Given the description of an element on the screen output the (x, y) to click on. 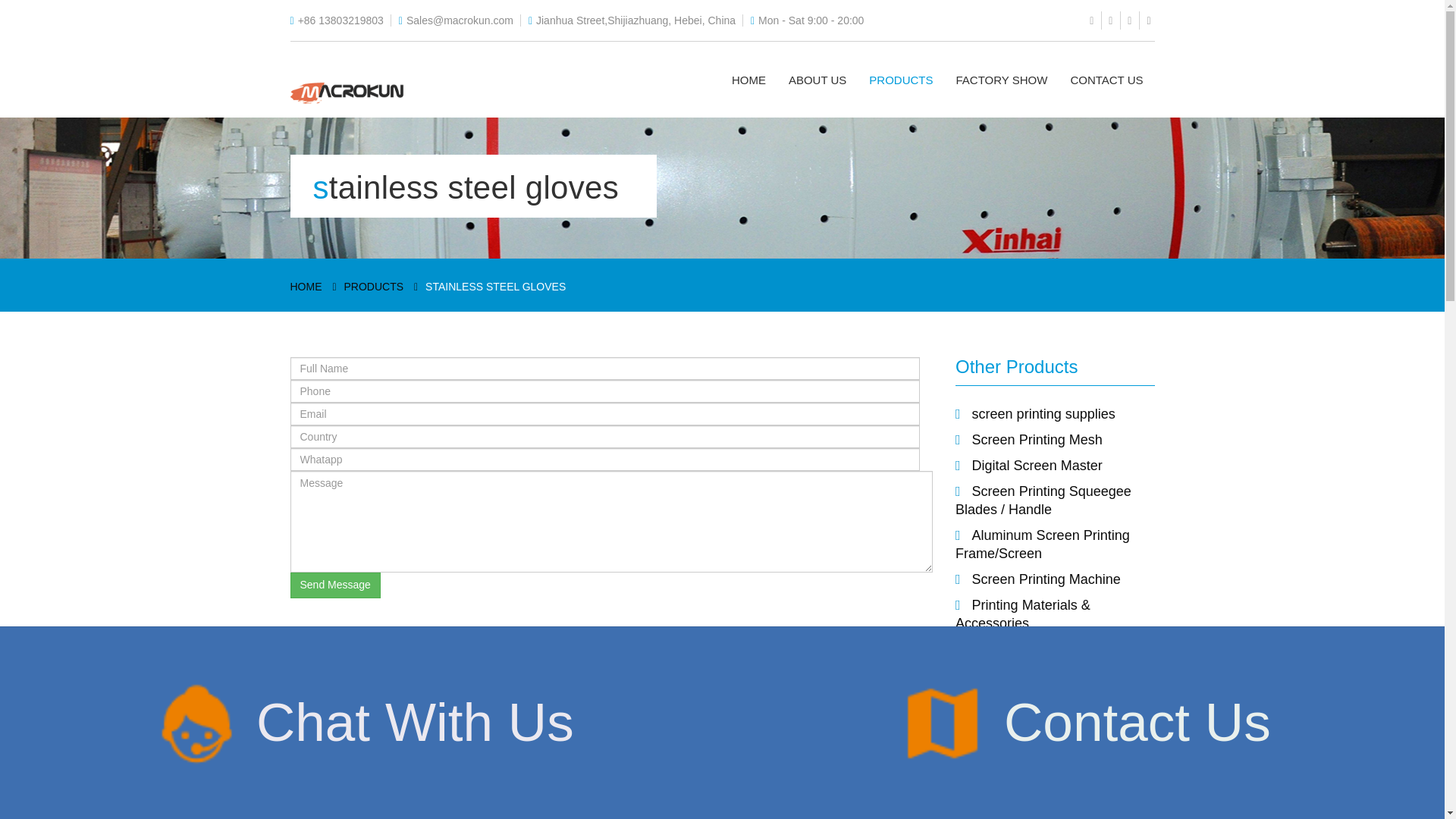
FACTORY SHOW (1001, 79)
ABOUT US (817, 79)
Get Price (871, 730)
screen printing supplies (1043, 413)
Stainless Steel Gloves (1040, 648)
HOME (305, 286)
Send Message (334, 585)
consult online (1057, 775)
PRODUCTS (900, 79)
Next (1145, 709)
Stainless Steel Gloves (1040, 648)
Screen Printing Mesh (1037, 439)
Digital Screen Master (1037, 465)
Screen Printing Mesh (1037, 439)
CONTACT US (1106, 79)
